Given the description of an element on the screen output the (x, y) to click on. 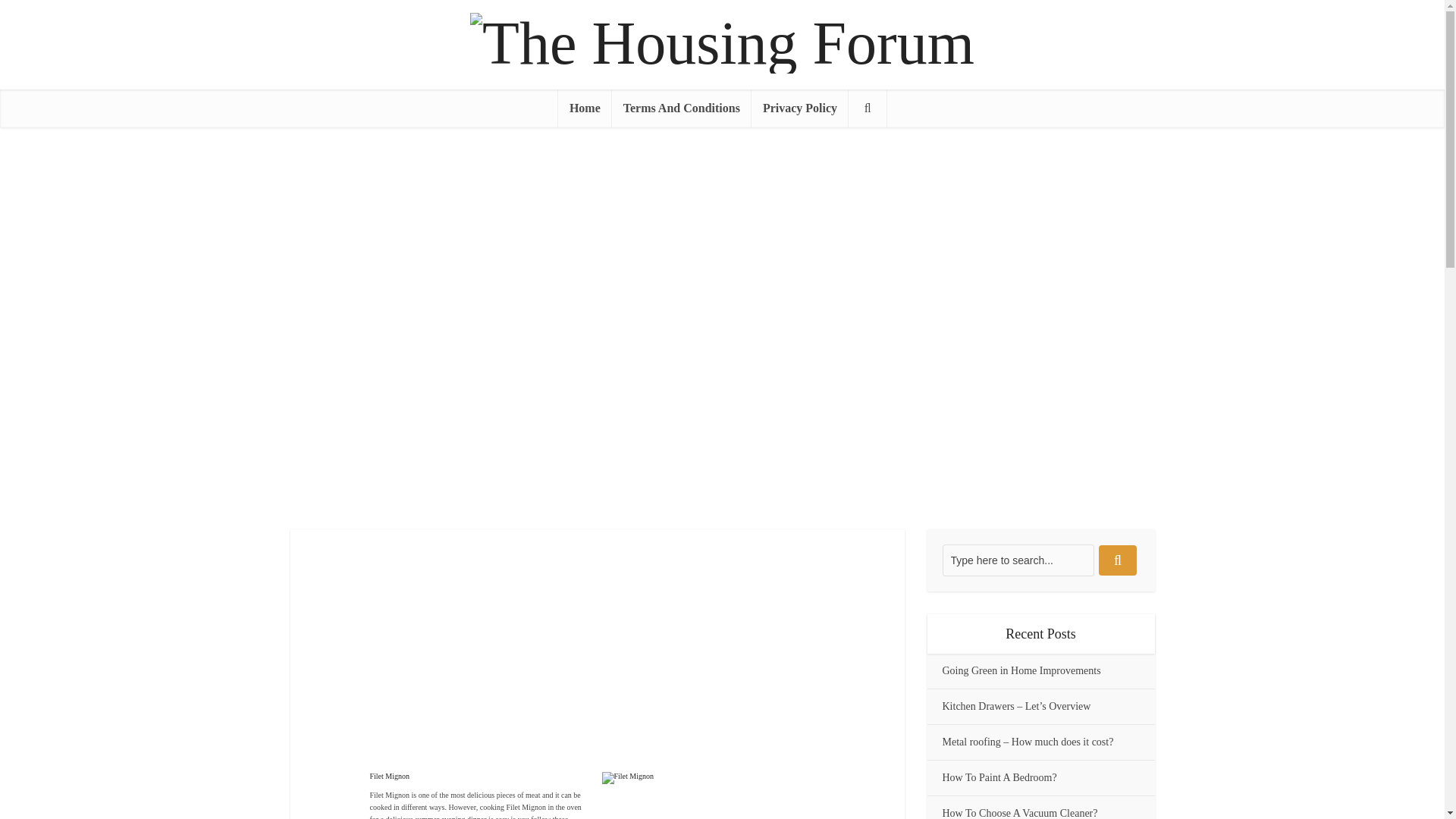
Type here to search... (1017, 560)
Terms And Conditions (681, 108)
Privacy Policy (799, 108)
Advertisement (657, 662)
Home (584, 108)
Type here to search... (1017, 560)
Filet Mignon (713, 795)
